Given the description of an element on the screen output the (x, y) to click on. 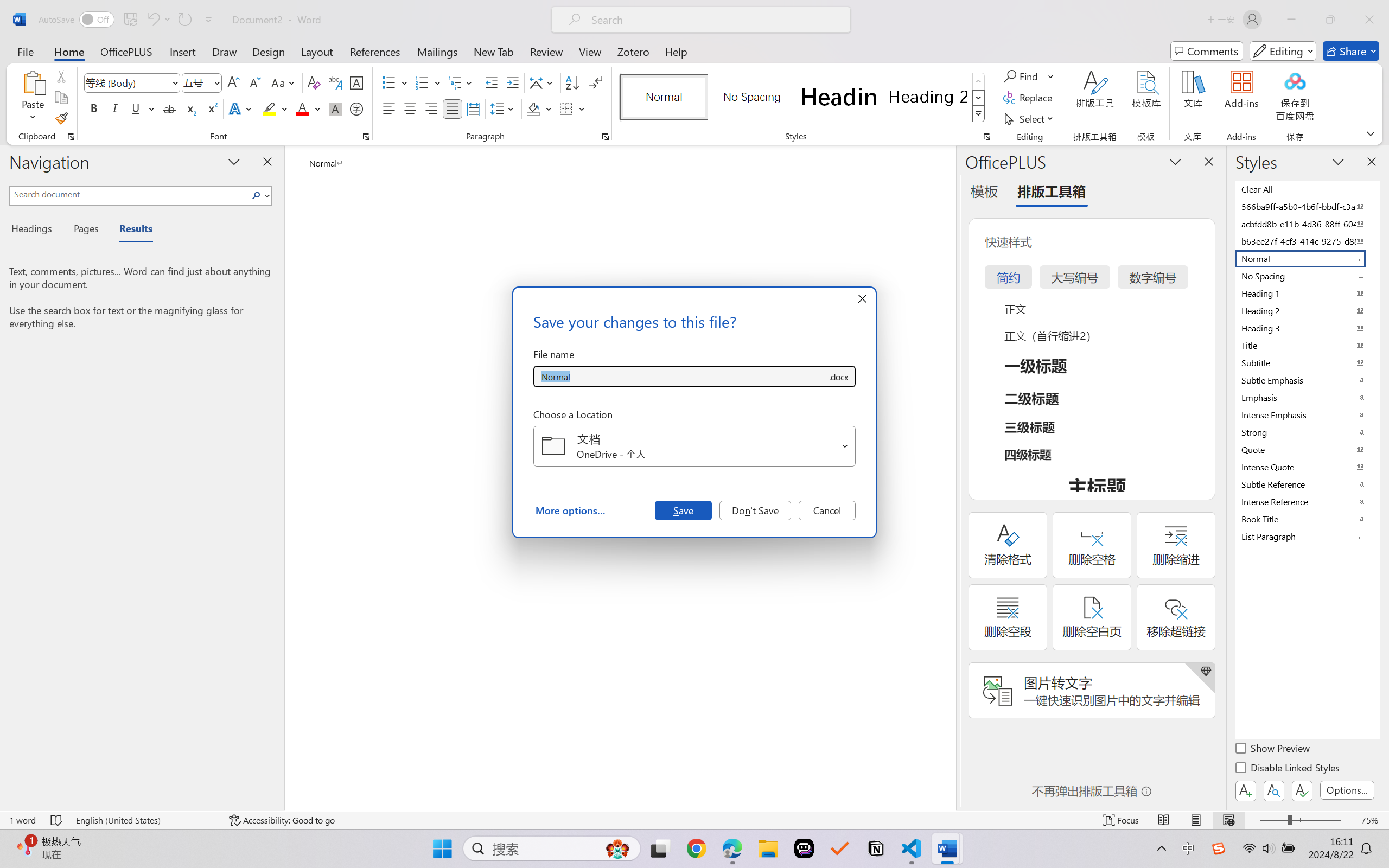
Shading (539, 108)
Task Pane Options (1175, 161)
Normal (1306, 258)
View (589, 51)
Heading 1 (839, 96)
Book Title (1306, 518)
Comments (1206, 50)
Search (259, 195)
References (375, 51)
Pages (85, 229)
Font Color Red (302, 108)
